Given the description of an element on the screen output the (x, y) to click on. 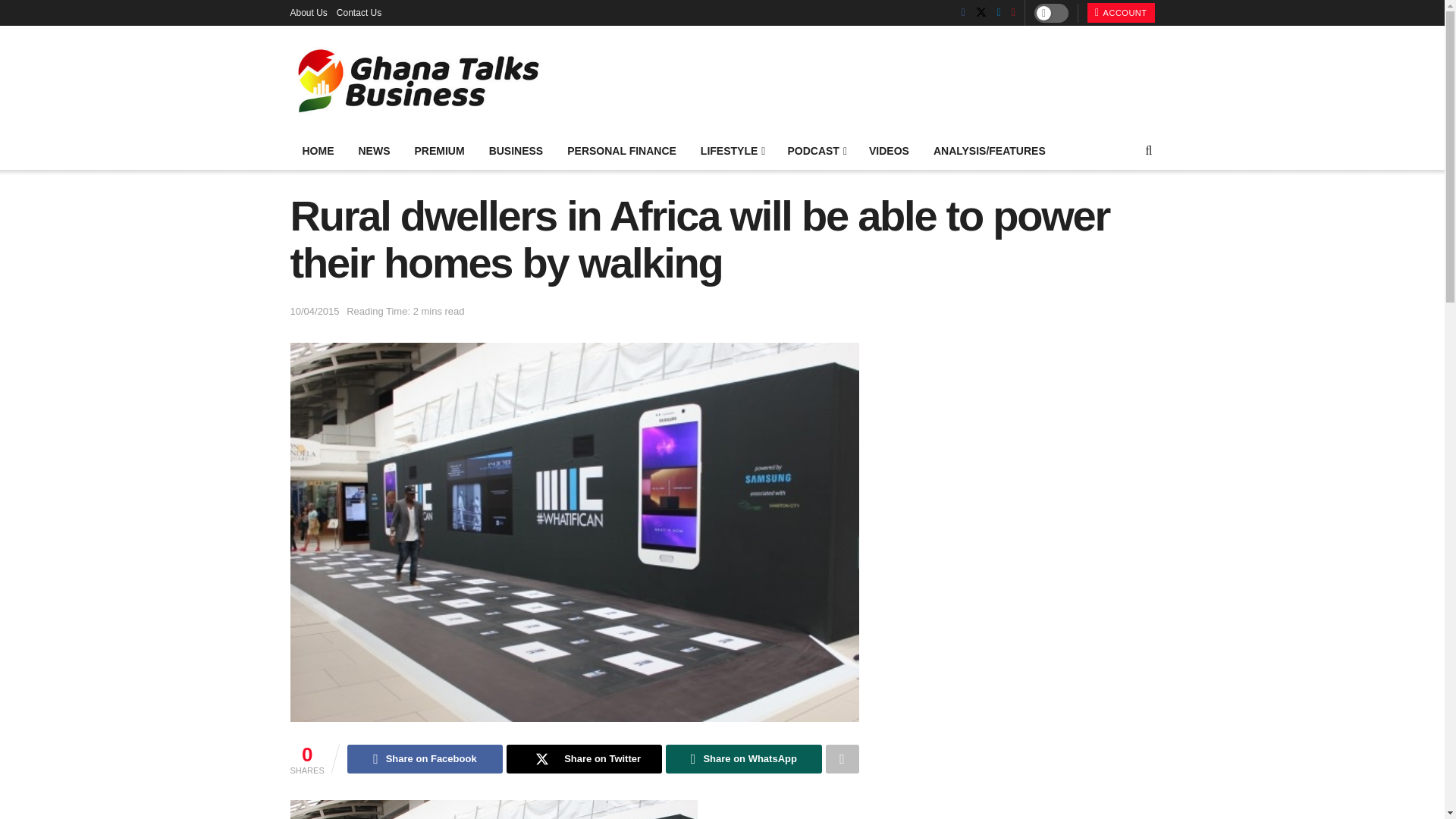
PREMIUM (438, 150)
LIFESTYLE (732, 150)
About Us (307, 12)
PODCAST (815, 150)
NEWS (373, 150)
ACCOUNT (1120, 12)
BUSINESS (516, 150)
VIDEOS (889, 150)
PERSONAL FINANCE (621, 150)
Contact Us (358, 12)
